Given the description of an element on the screen output the (x, y) to click on. 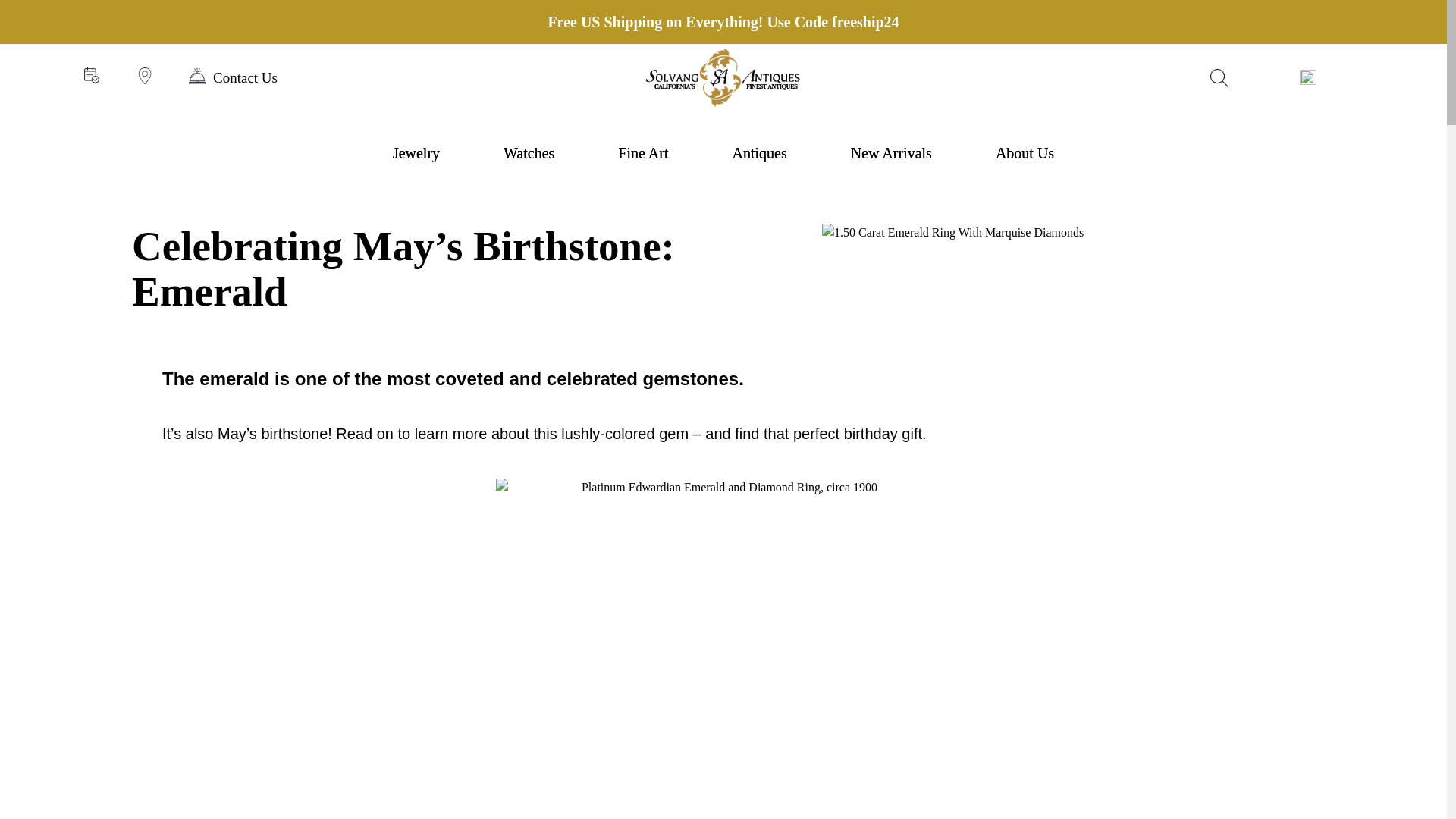
Contact Us (233, 78)
Jewelry (416, 153)
Watches (528, 153)
Antiques (759, 153)
Fine Art (642, 153)
